Given the description of an element on the screen output the (x, y) to click on. 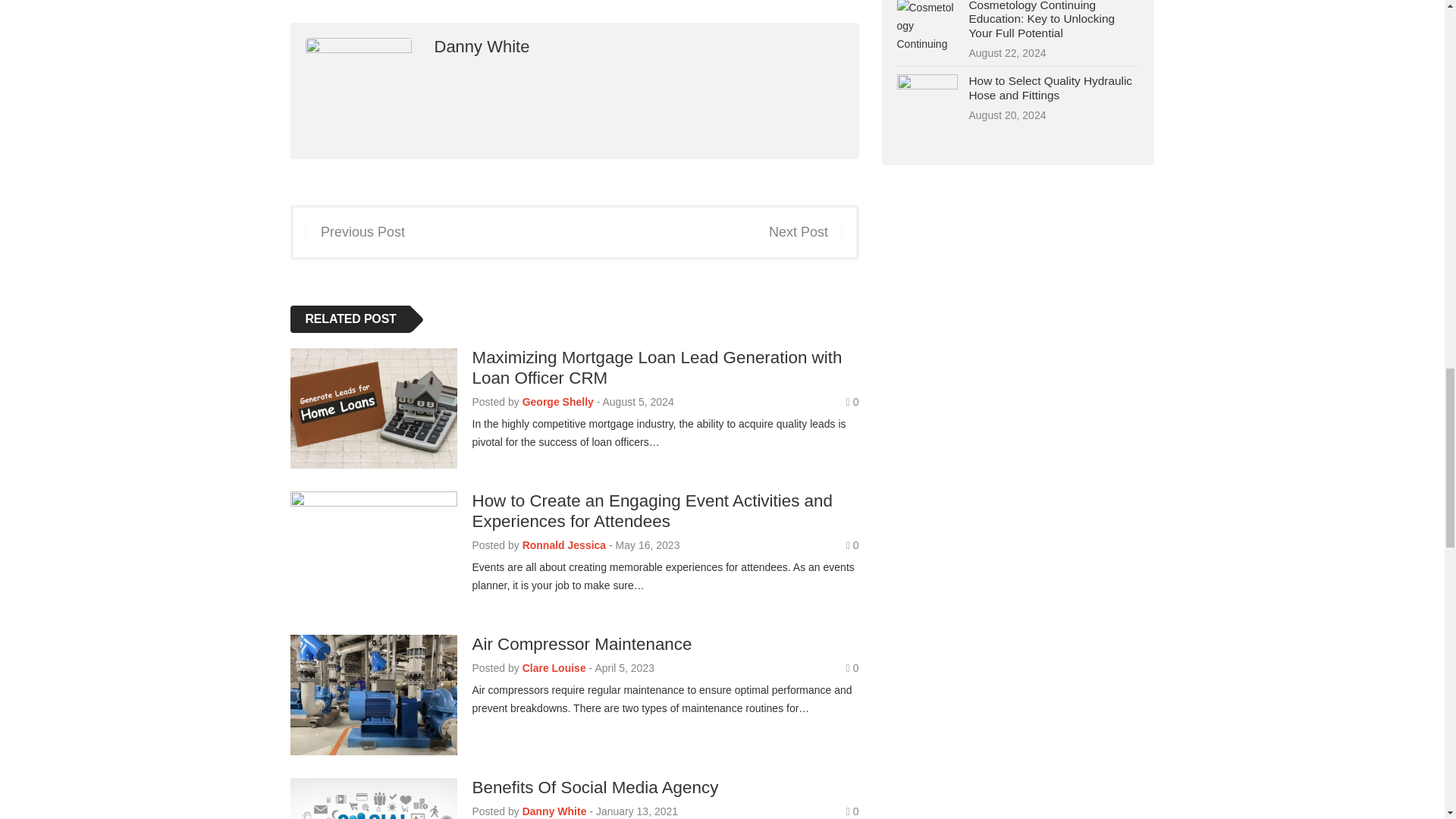
Danny White (481, 46)
Posts by Ronnald Jessica (564, 544)
Posts by George Shelly (558, 401)
